Given the description of an element on the screen output the (x, y) to click on. 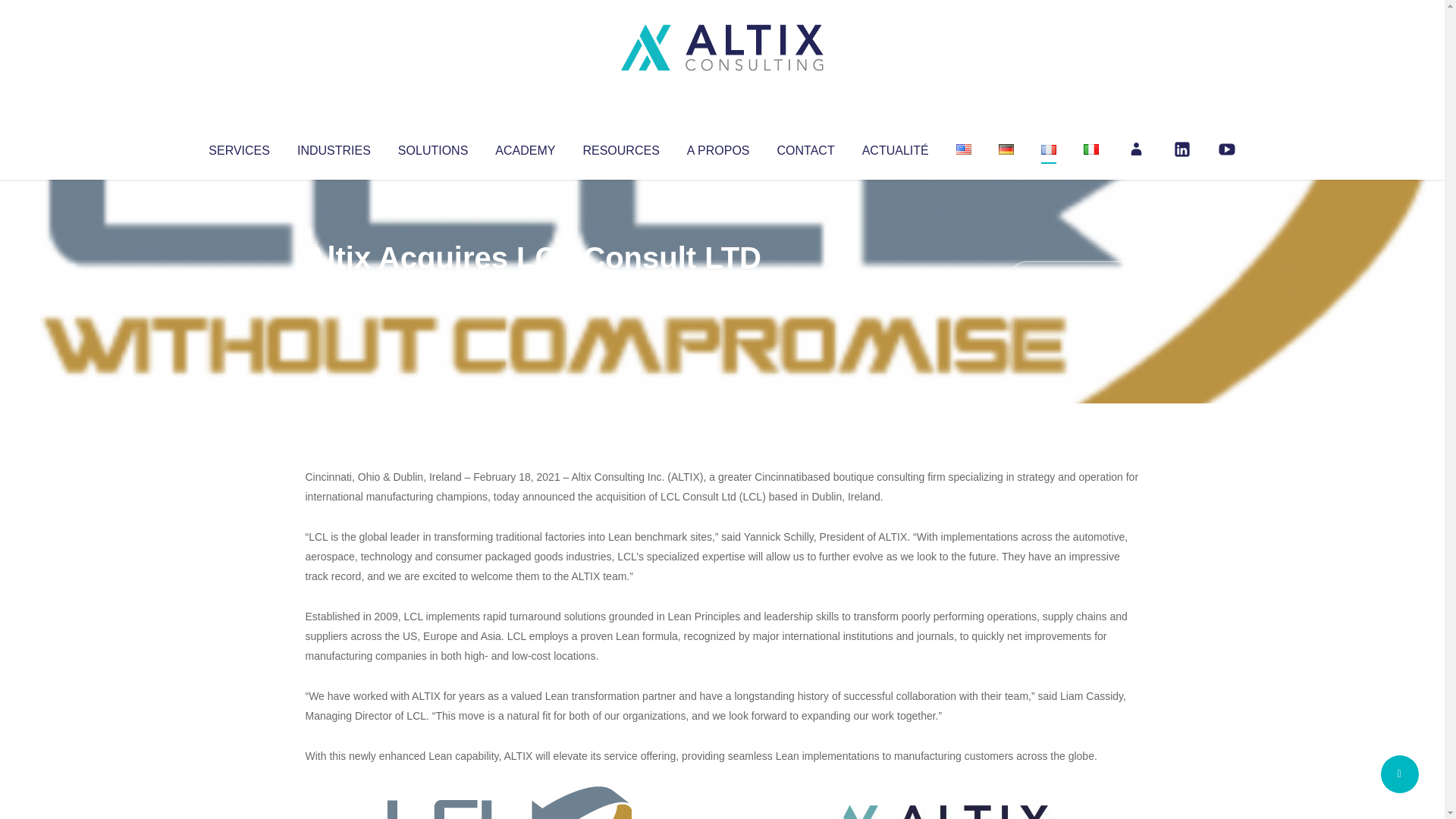
SERVICES (238, 146)
RESOURCES (620, 146)
SOLUTIONS (432, 146)
Altix (333, 287)
Articles par Altix (333, 287)
ACADEMY (524, 146)
A PROPOS (718, 146)
INDUSTRIES (334, 146)
Uncategorized (530, 287)
No Comments (1073, 278)
